Given the description of an element on the screen output the (x, y) to click on. 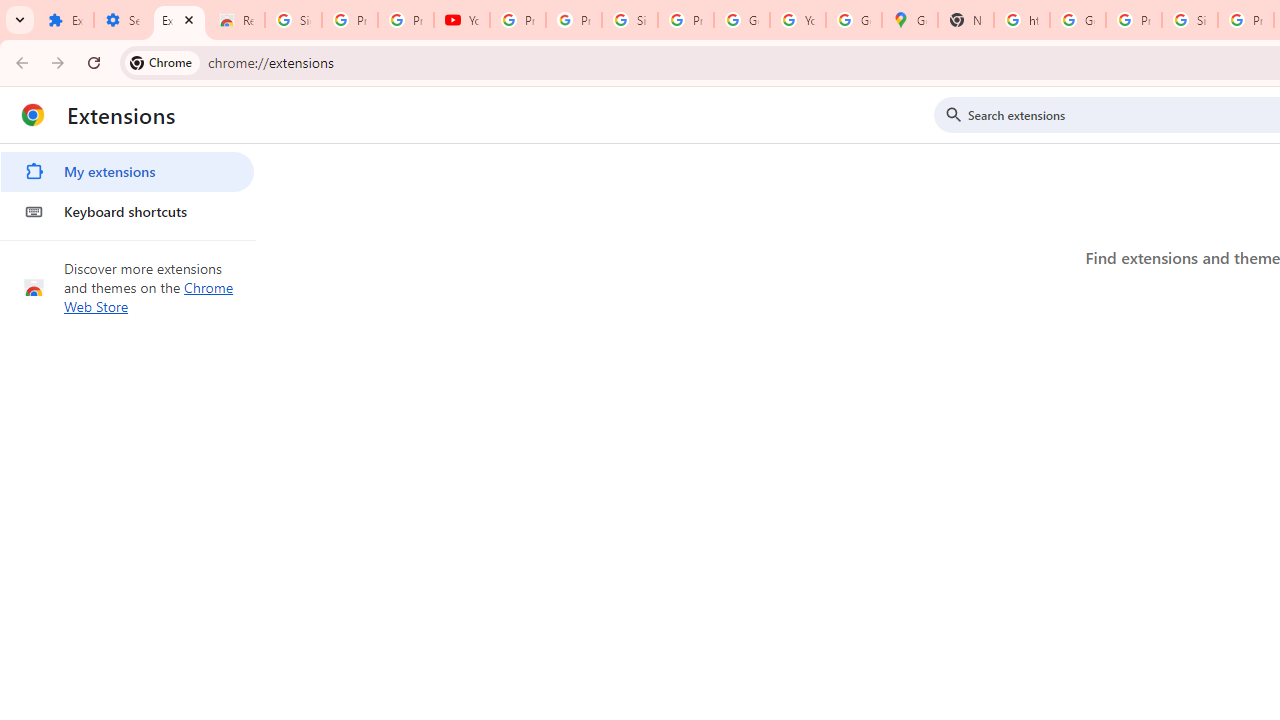
Keyboard shortcuts (127, 211)
Reviews: Helix Fruit Jump Arcade Game (235, 20)
Extensions (65, 20)
